Given the description of an element on the screen output the (x, y) to click on. 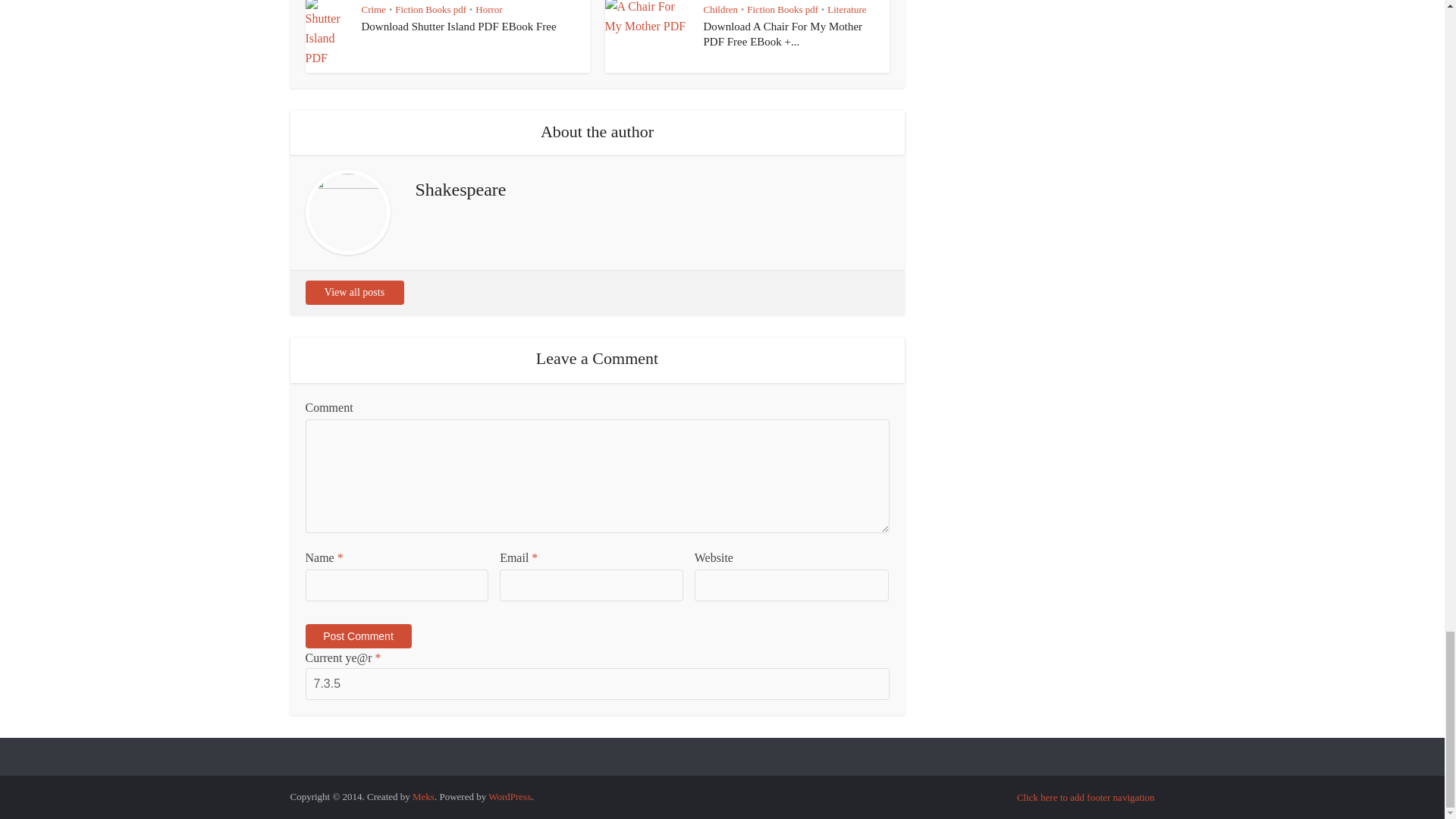
Post Comment (357, 636)
7.3.5 (596, 684)
Download Shutter Island PDF EBook Free (458, 26)
